Given the description of an element on the screen output the (x, y) to click on. 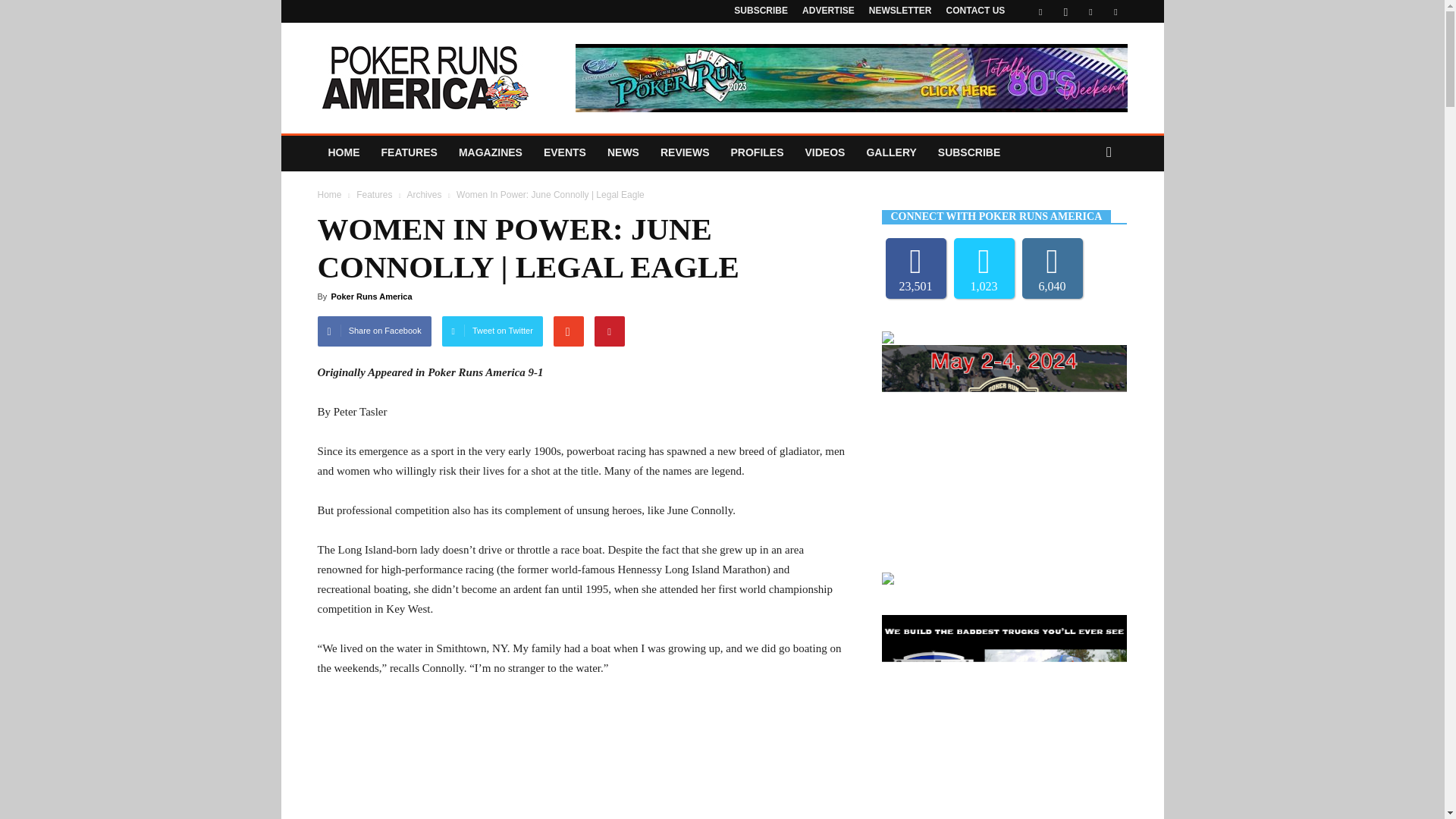
ADVERTISE (828, 9)
SUBSCRIBE (760, 9)
Youtube (1114, 11)
NEWSLETTER (900, 9)
Twitter (1090, 11)
Facebook (1040, 11)
Instagram (1065, 11)
